Given the description of an element on the screen output the (x, y) to click on. 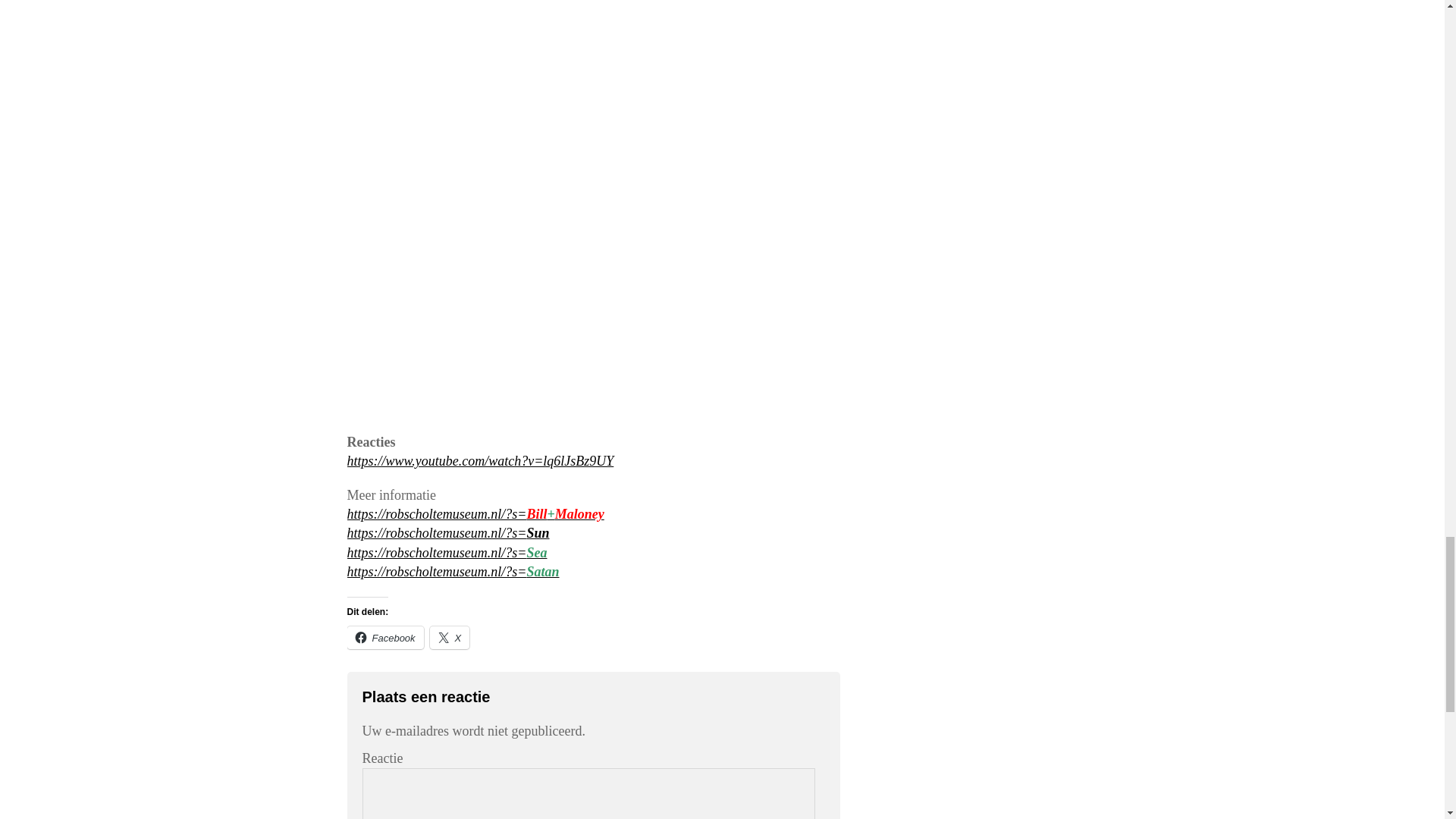
Klik om te delen op X (449, 637)
X (449, 637)
Facebook (385, 637)
Klik om te delen op Facebook (385, 637)
